Given the description of an element on the screen output the (x, y) to click on. 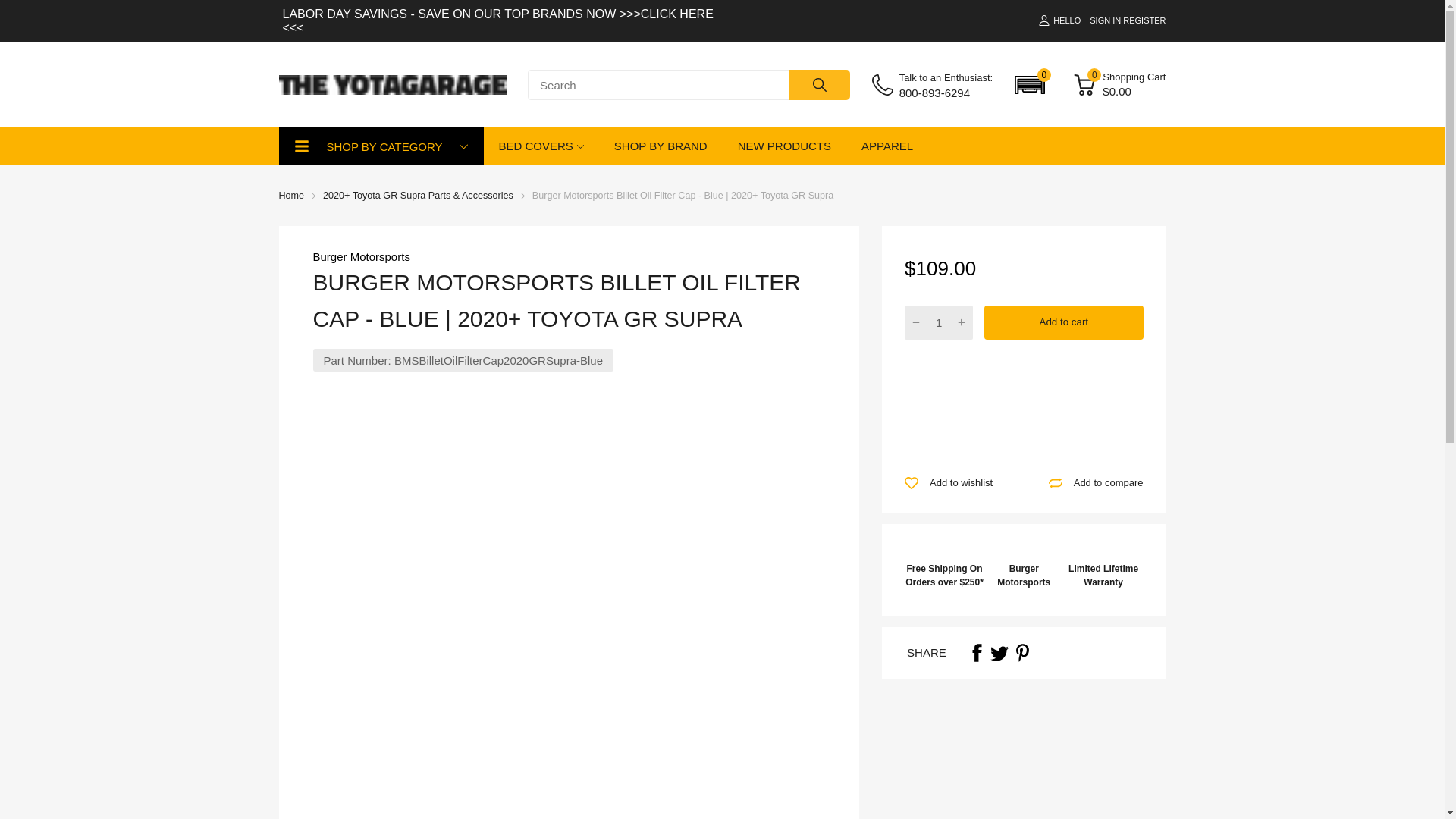
APPAREL (886, 146)
0 (1029, 84)
SIGN IN (1105, 20)
Burger Motorsports (361, 256)
SHOP BY BRAND (660, 146)
Add to cart (1063, 322)
HELLO (1059, 20)
800-893-6294 (945, 92)
Pinterest (1021, 652)
Search (819, 84)
